Given the description of an element on the screen output the (x, y) to click on. 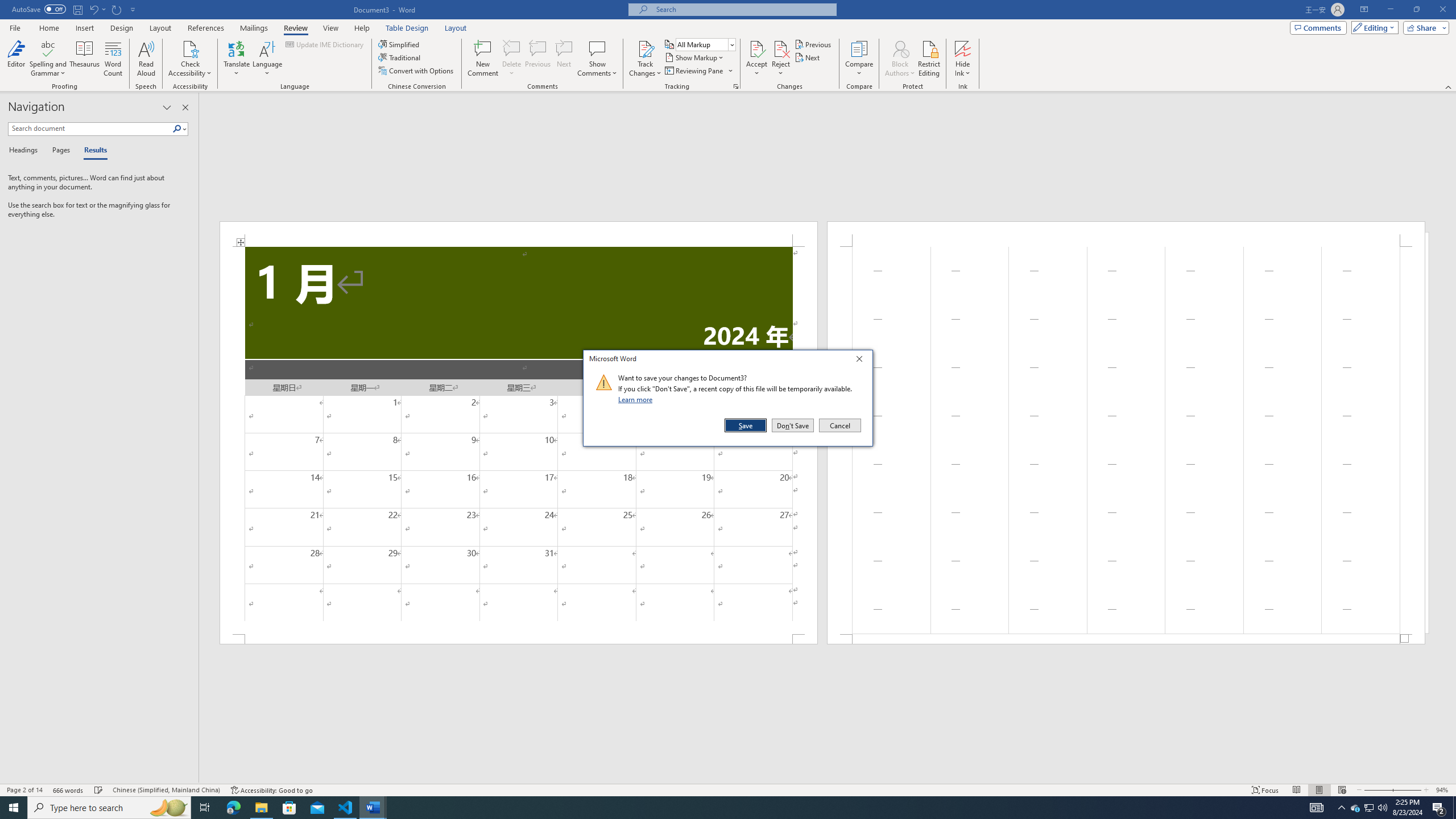
Action Center, 2 new notifications (1439, 807)
Previous (813, 44)
Home (48, 28)
Class: NetUIScrollBar (827, 778)
Spelling and Grammar (48, 58)
Customize Quick Access Toolbar (133, 9)
Delete (511, 58)
Task Pane Options (167, 107)
Close pane (185, 107)
Minimize (1390, 9)
Focus  (1265, 790)
Class: NetUIImage (603, 382)
Language Chinese (Simplified, Mainland China) (165, 790)
Design (122, 28)
